Given the description of an element on the screen output the (x, y) to click on. 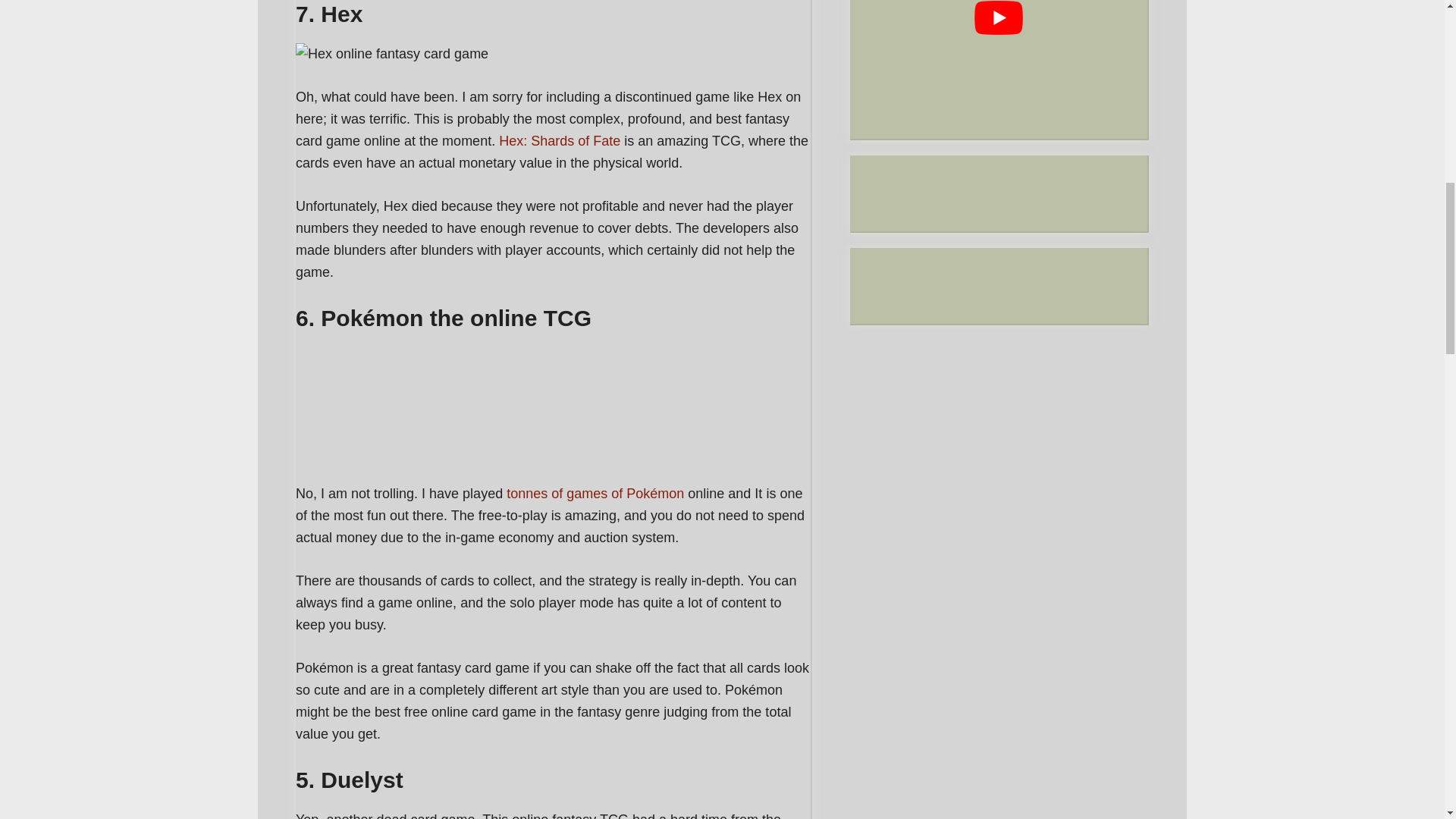
Hex: Shards of Fate (559, 140)
